Given the description of an element on the screen output the (x, y) to click on. 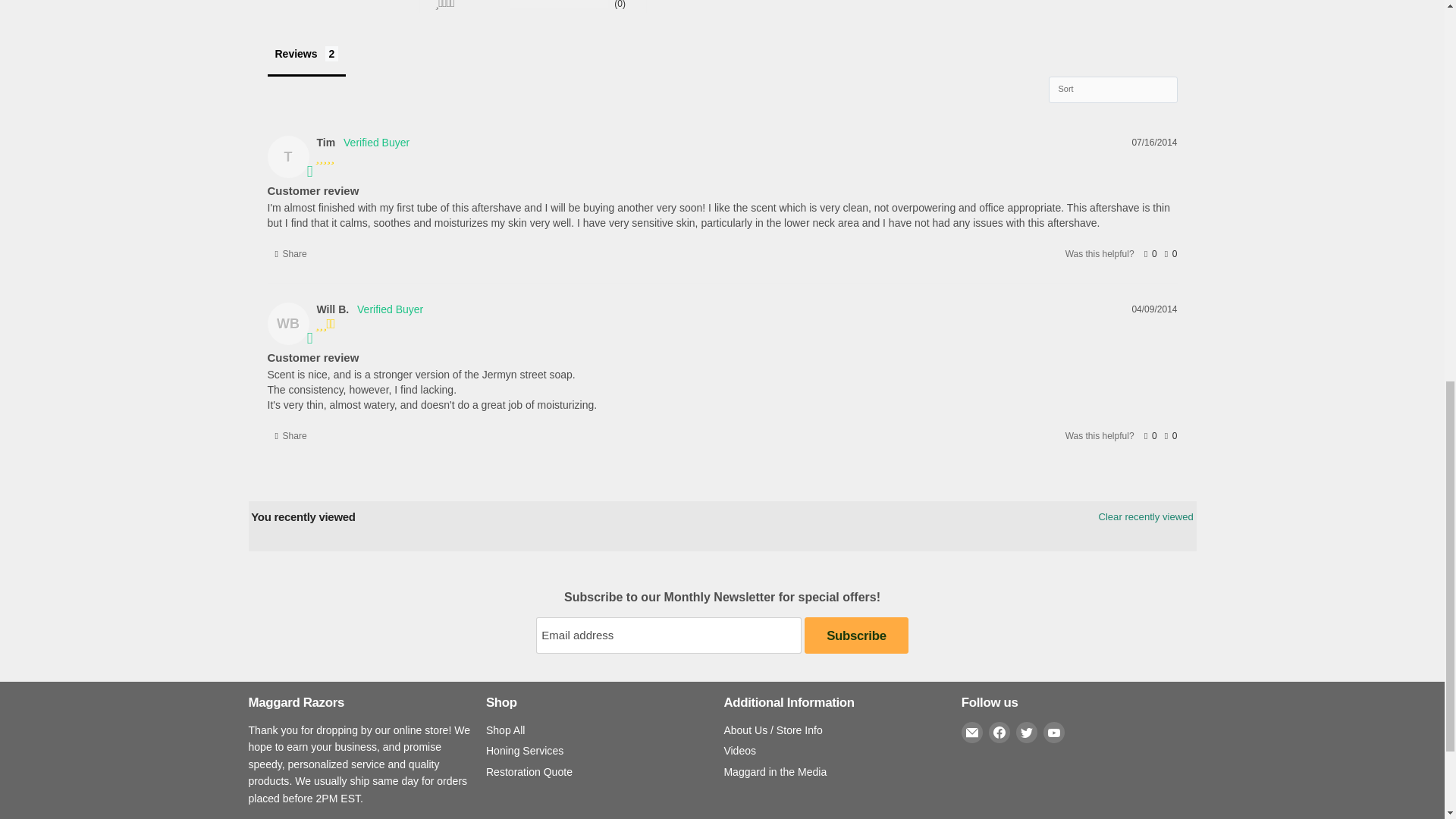
Email (971, 731)
Facebook (999, 731)
Subscribe (856, 635)
Twitter (1026, 731)
YouTube (1053, 731)
